Given the description of an element on the screen output the (x, y) to click on. 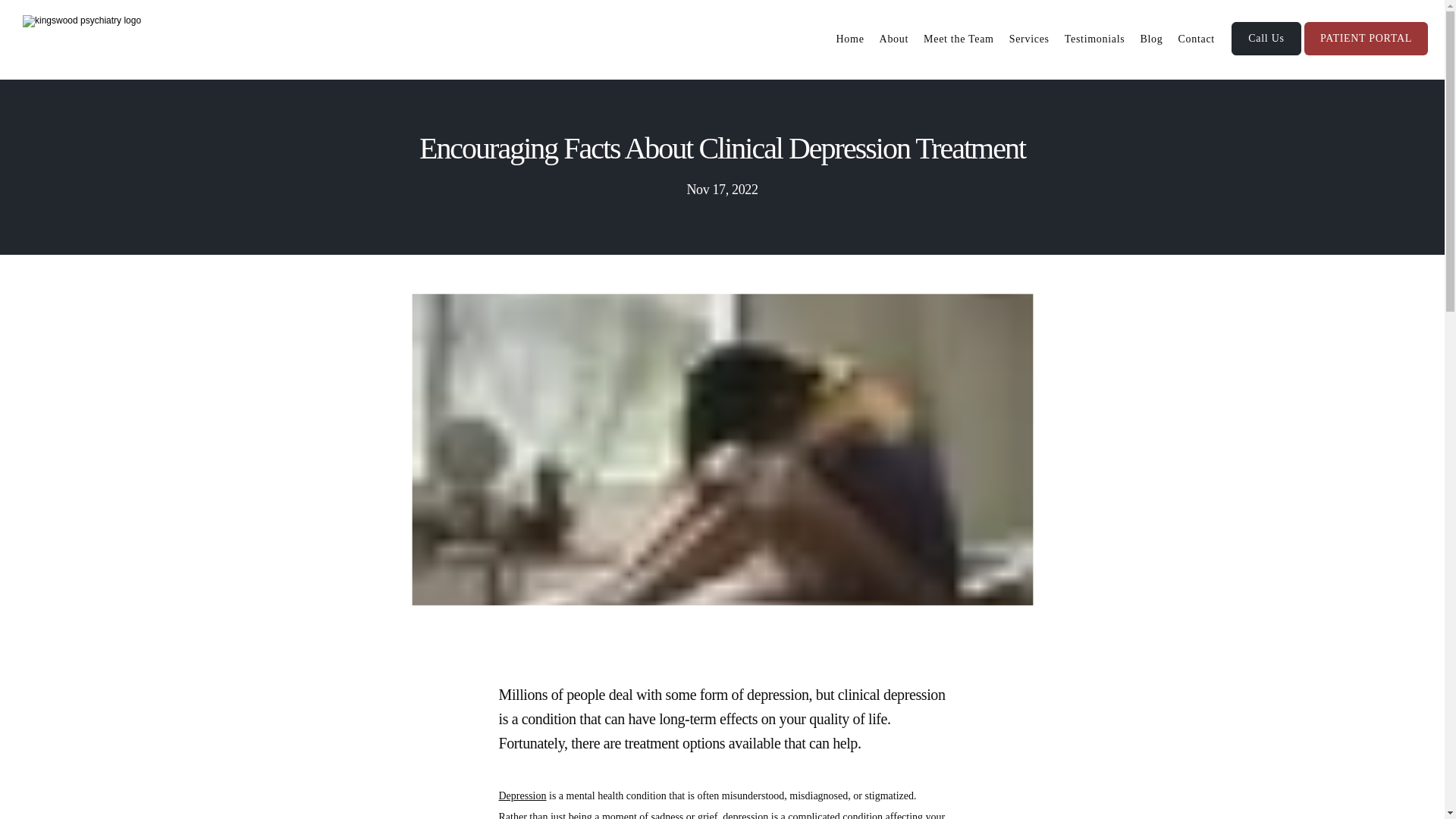
Blog (1150, 39)
Home (849, 39)
Contact (1195, 39)
Services (1029, 39)
Call Us (1266, 53)
Meet the Team (958, 39)
PATIENT PORTAL (1366, 53)
Depression (523, 795)
About (893, 39)
Testimonials (1094, 39)
